Given the description of an element on the screen output the (x, y) to click on. 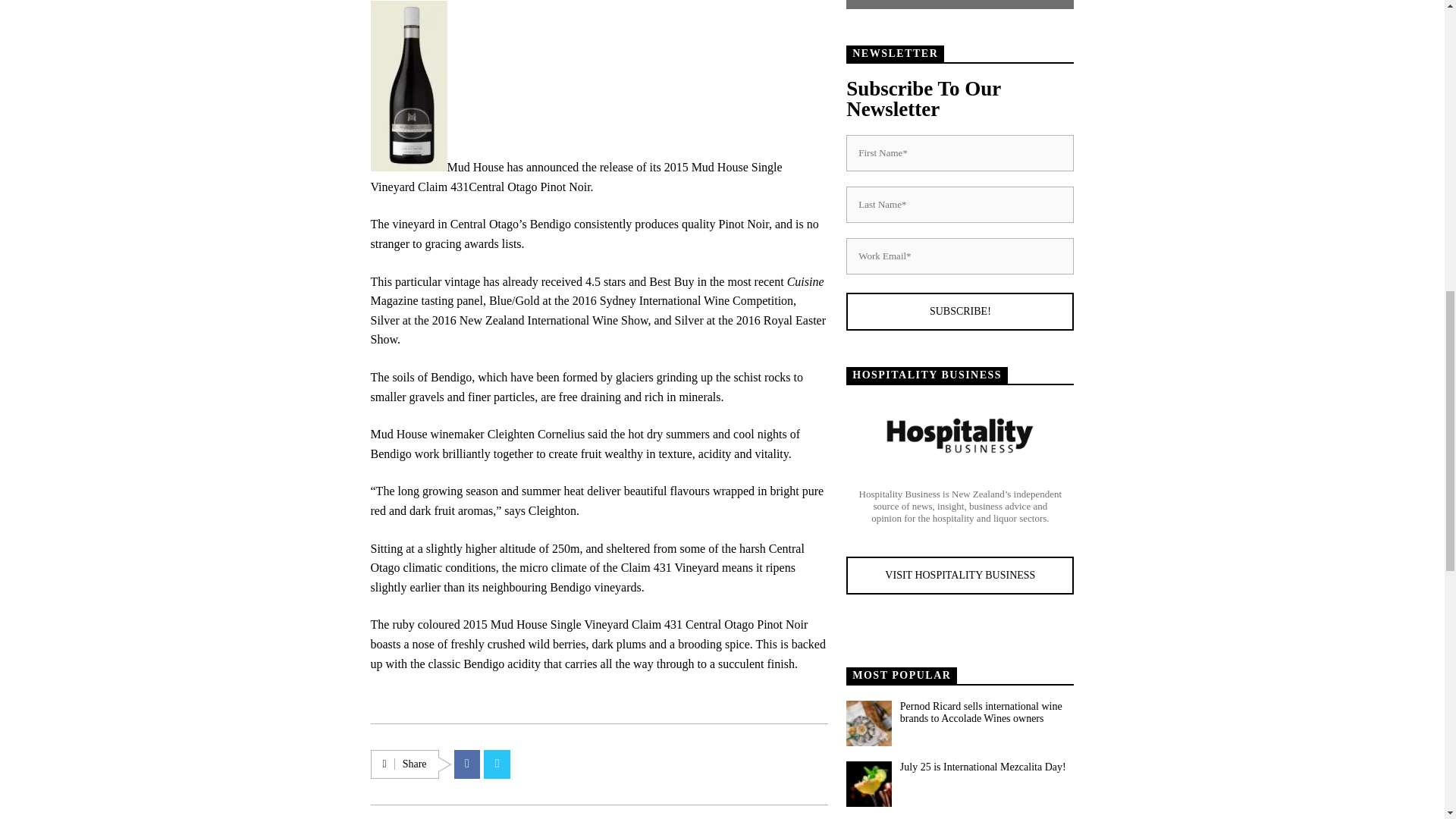
July 25 is International Mezcalita Day! (868, 783)
SUBSCRIBE! (959, 311)
July 25 is International Mezcalita Day! (986, 767)
